Given the description of an element on the screen output the (x, y) to click on. 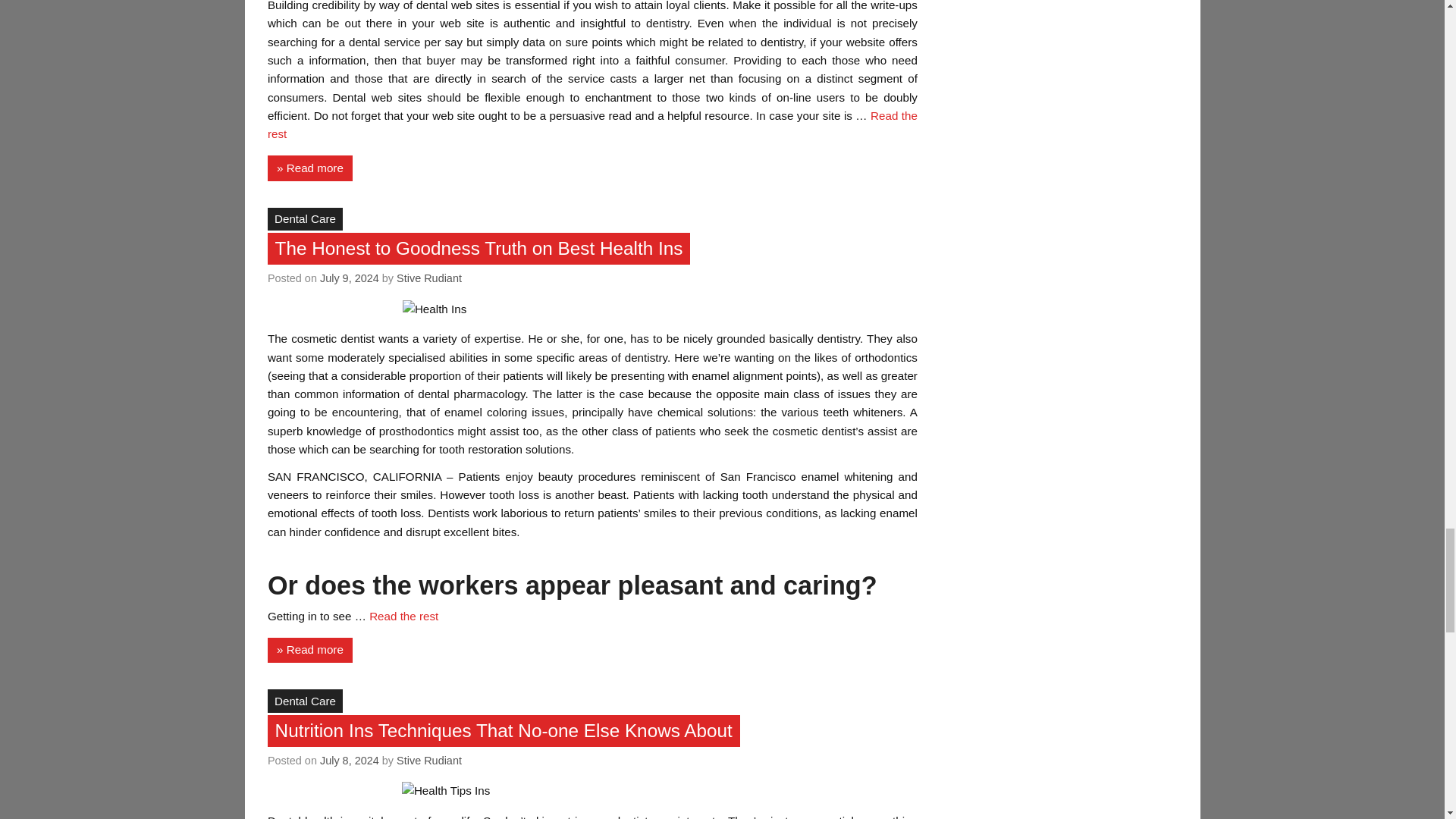
6:27 am (349, 760)
View all posts by Stive Rudiant (428, 277)
3:31 pm (349, 277)
